Given the description of an element on the screen output the (x, y) to click on. 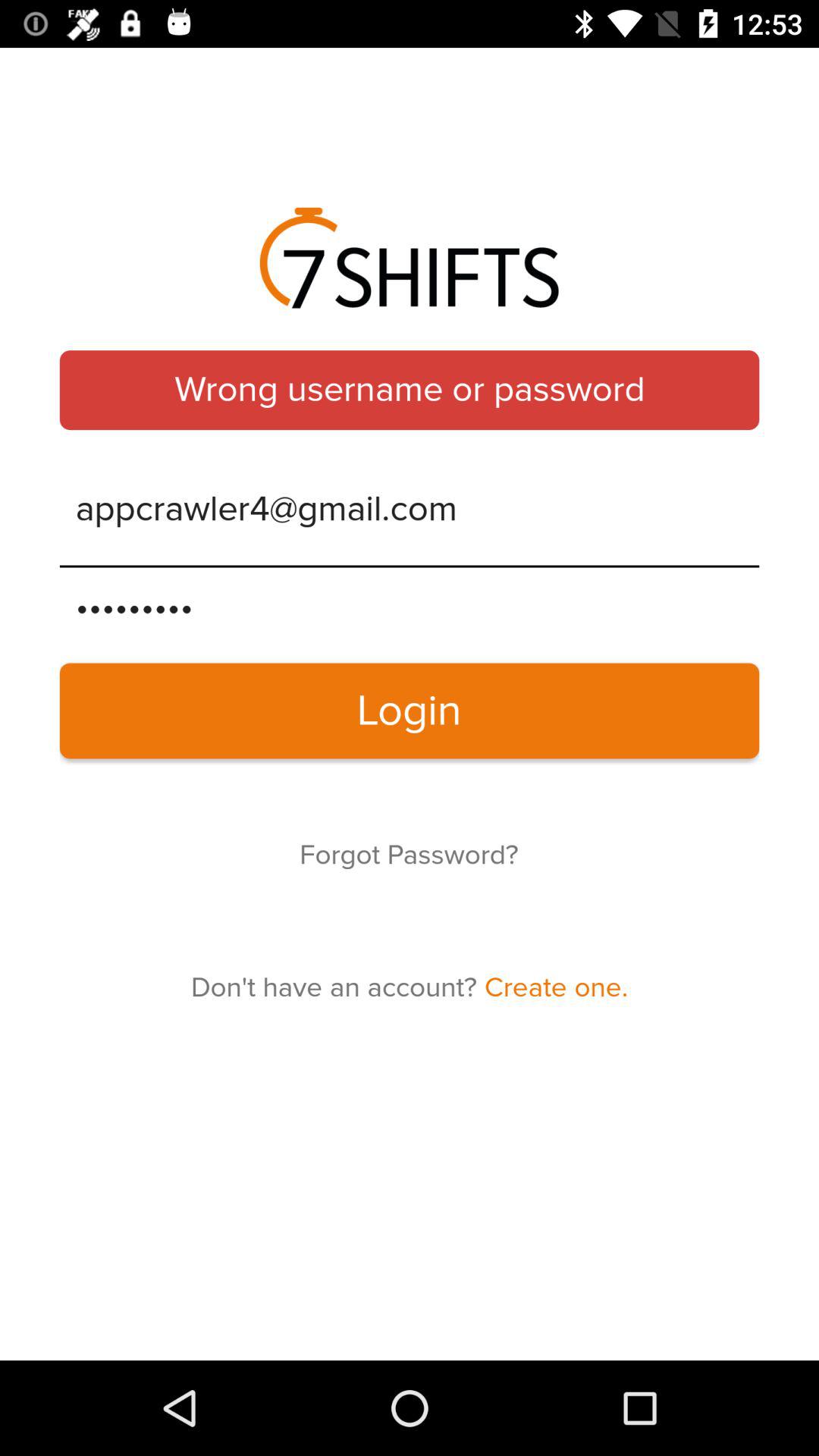
turn on icon above the login icon (409, 607)
